Given the description of an element on the screen output the (x, y) to click on. 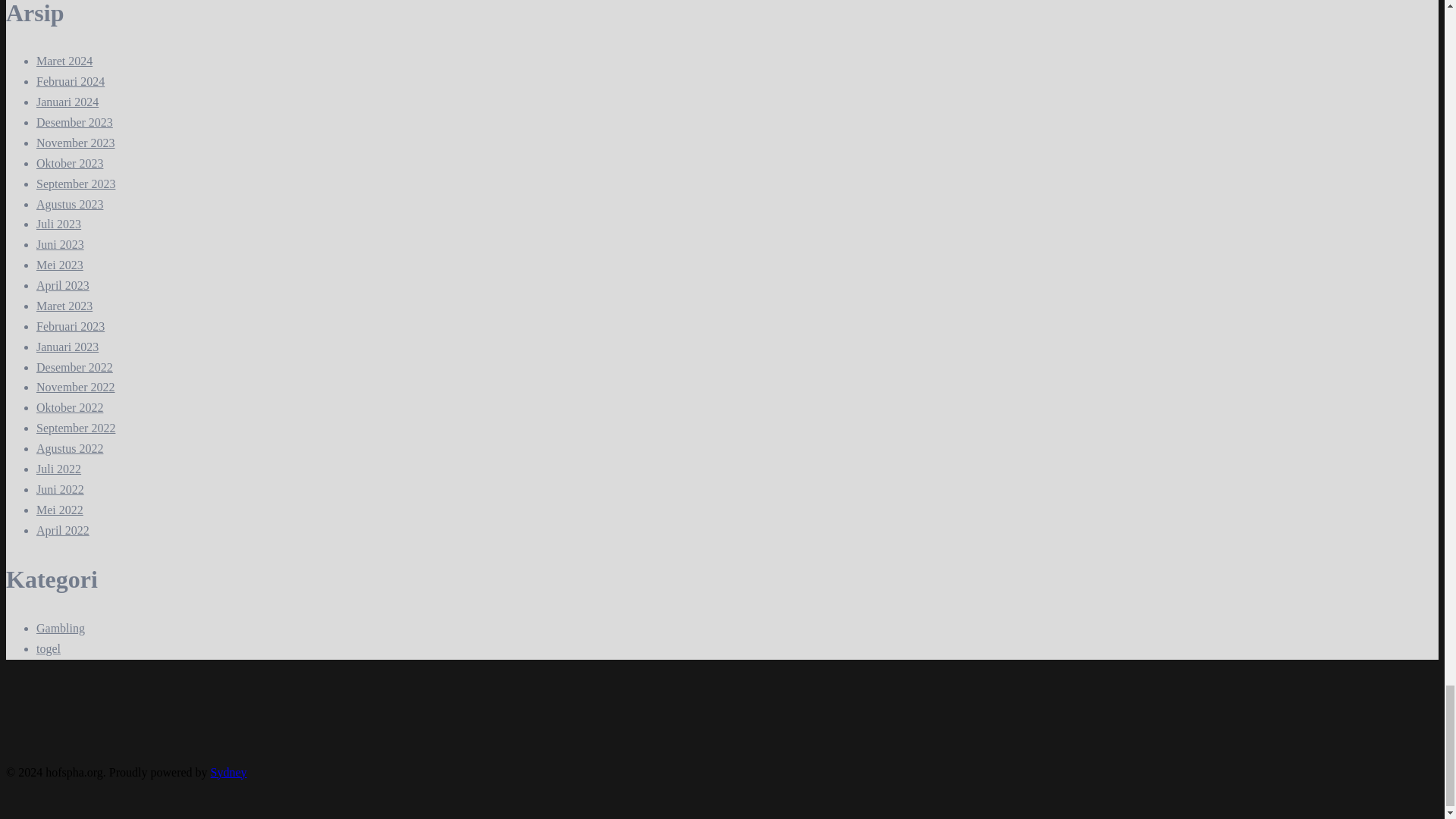
Februari 2024 (70, 81)
Desember 2023 (74, 122)
Maret 2023 (64, 305)
April 2023 (62, 285)
Januari 2024 (67, 101)
Juli 2023 (58, 223)
Agustus 2023 (69, 204)
Maret 2024 (64, 60)
Mei 2023 (59, 264)
Oktober 2023 (69, 163)
